Given the description of an element on the screen output the (x, y) to click on. 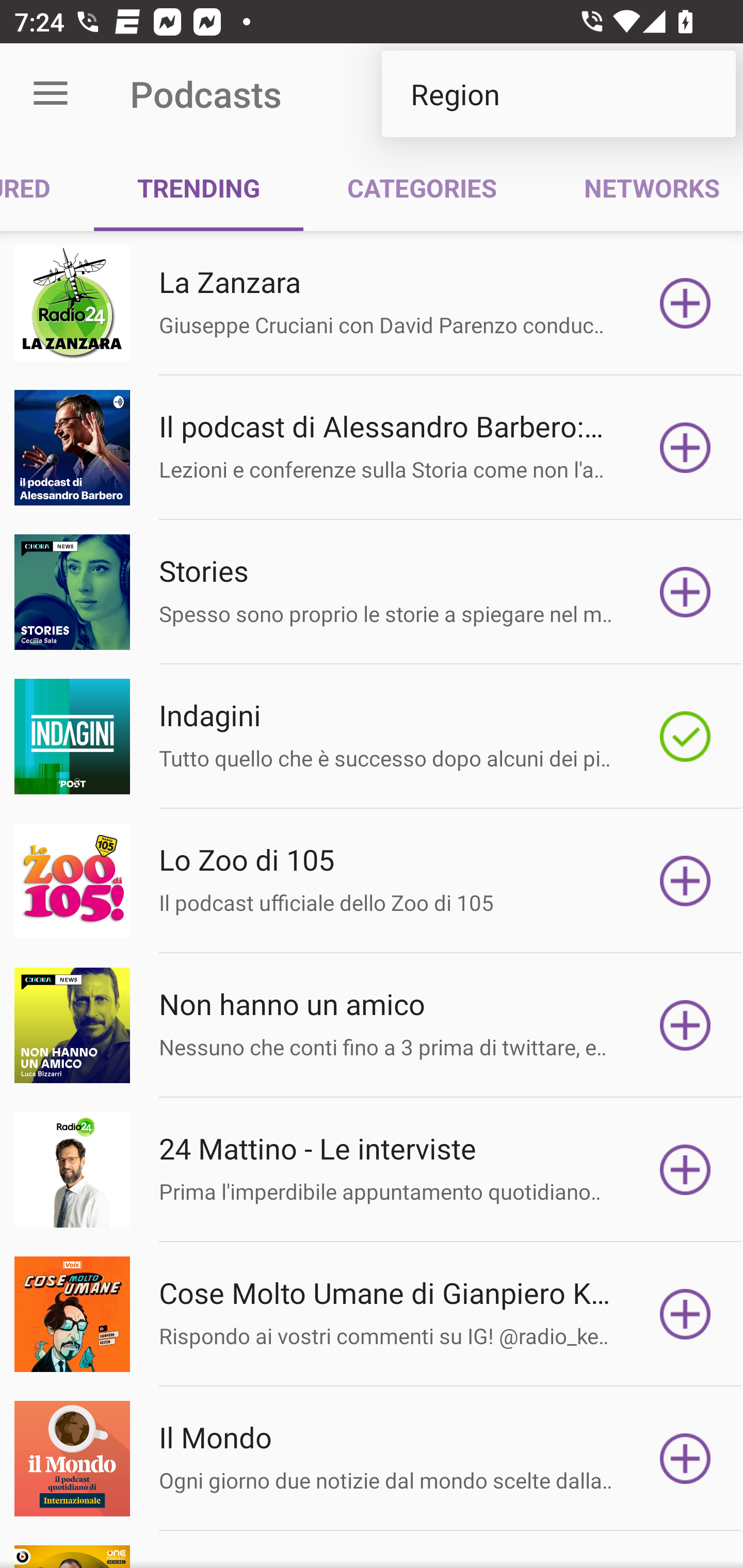
Region (558, 93)
